Given the description of an element on the screen output the (x, y) to click on. 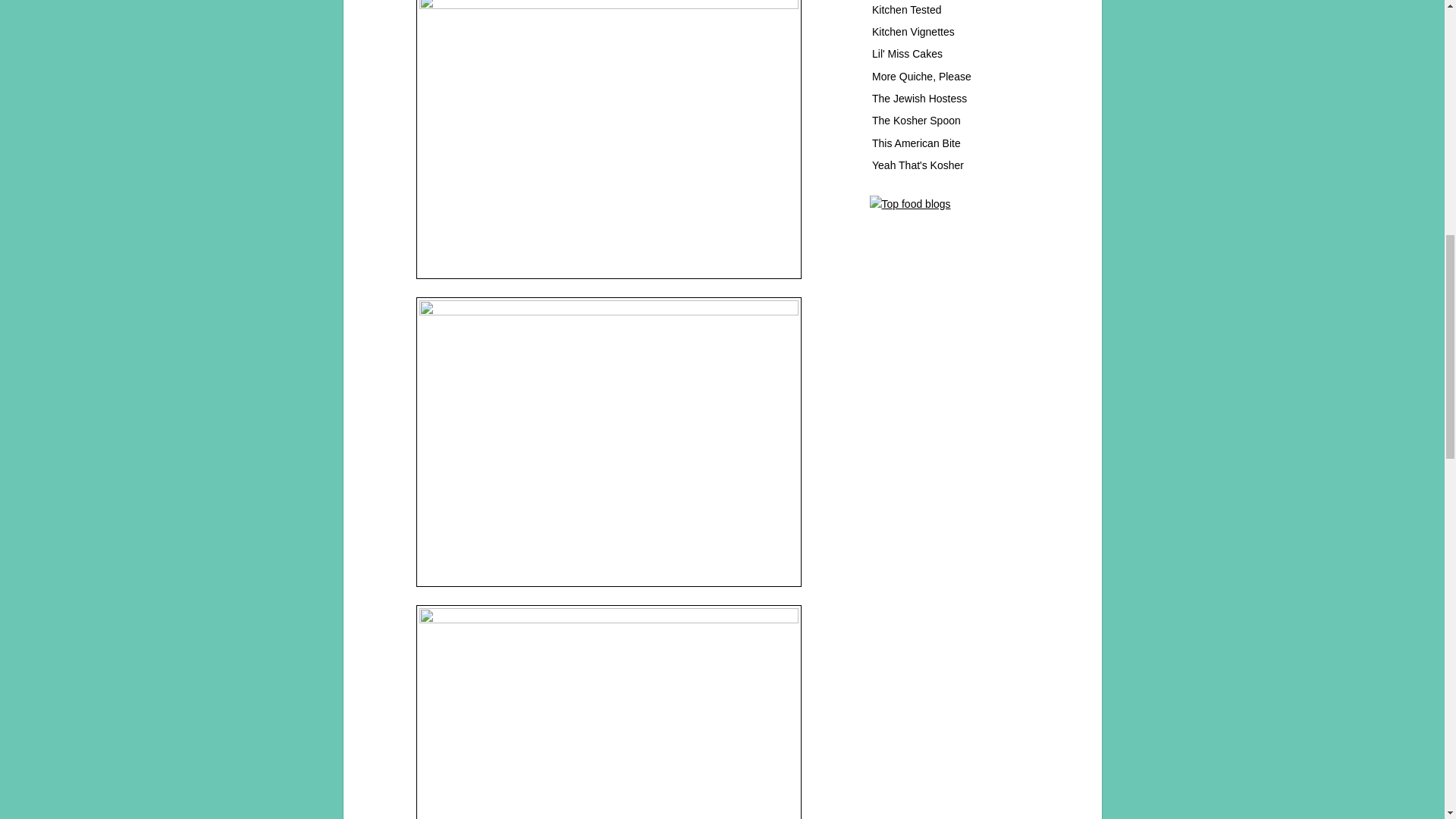
halved and sugared (607, 442)
view from the bottom (607, 712)
Search for recipes on Mytaste.com (909, 203)
sugarplums (607, 139)
